Given the description of an element on the screen output the (x, y) to click on. 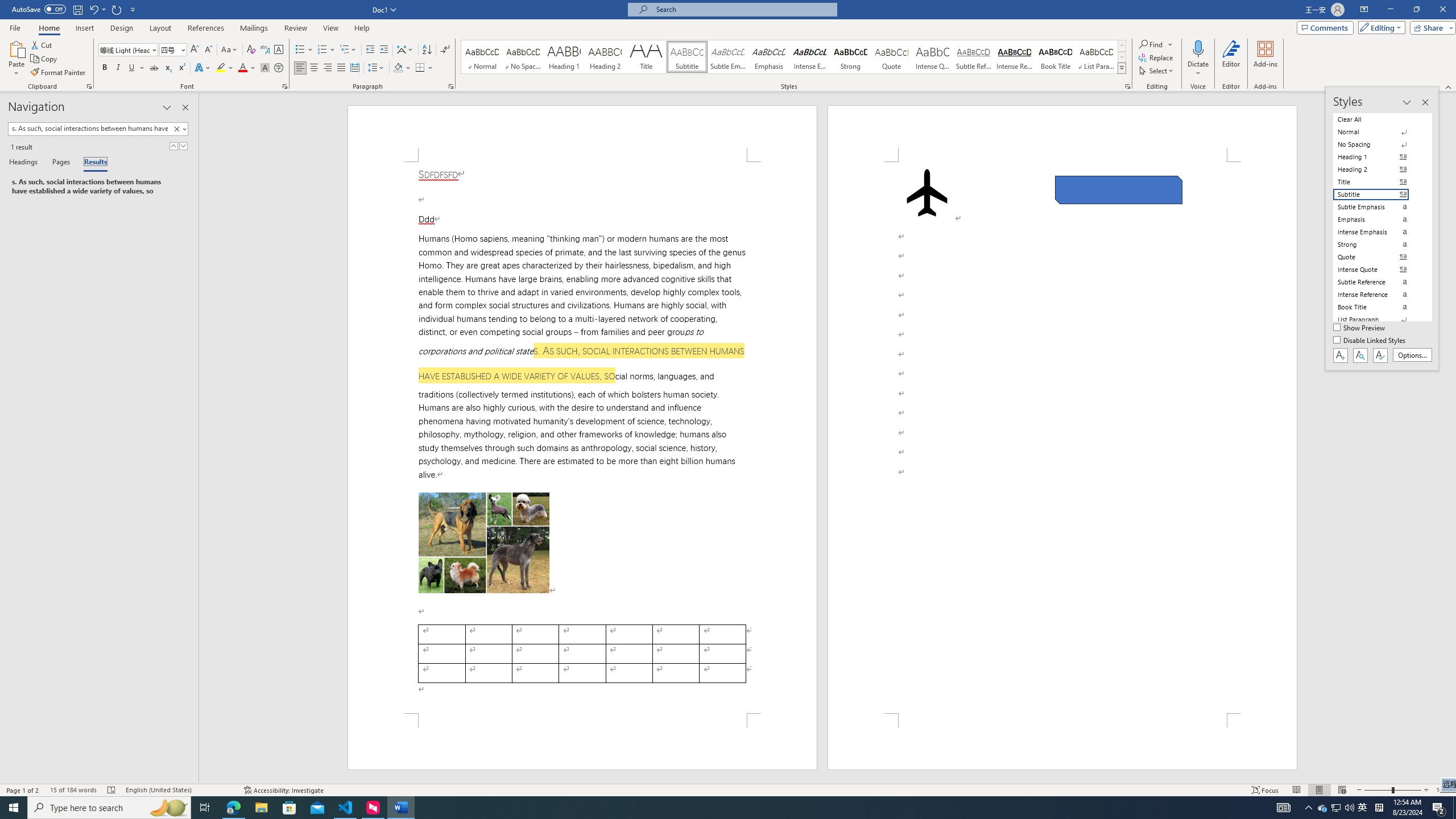
Disable Linked Styles (1370, 340)
Strong (849, 56)
Options... (1412, 354)
